Given the description of an element on the screen output the (x, y) to click on. 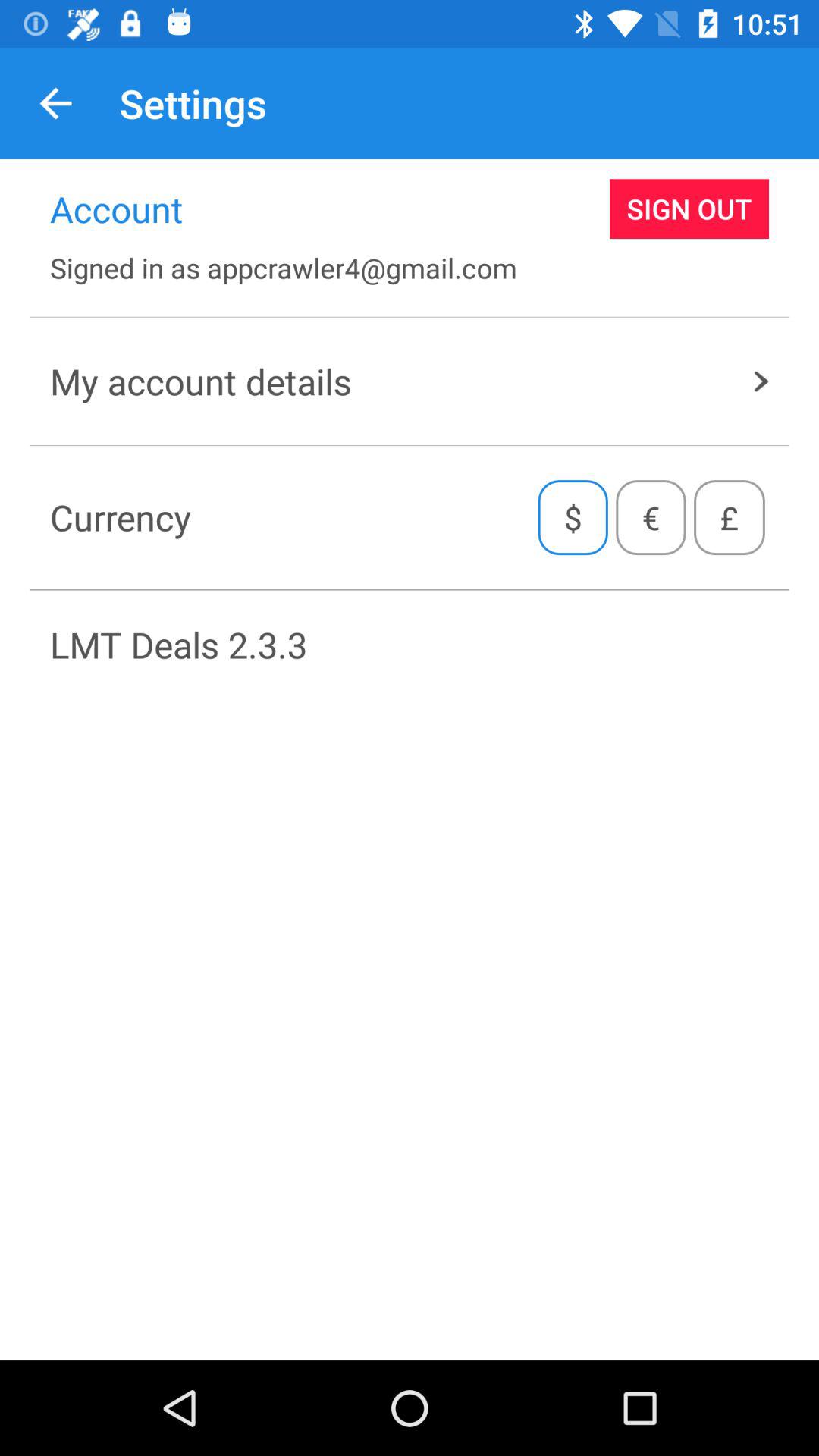
turn off the item to the left of settings app (55, 103)
